Given the description of an element on the screen output the (x, y) to click on. 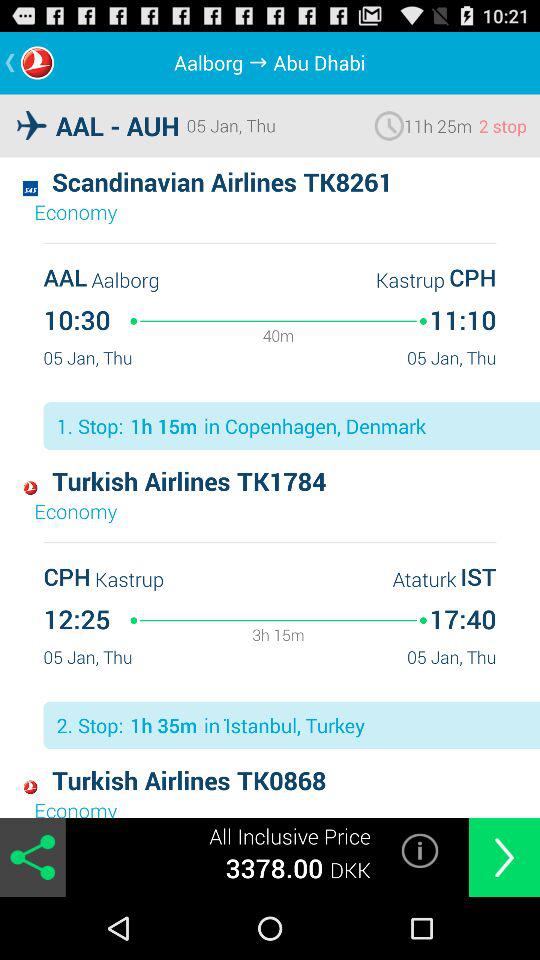
get more information (419, 850)
